Given the description of an element on the screen output the (x, y) to click on. 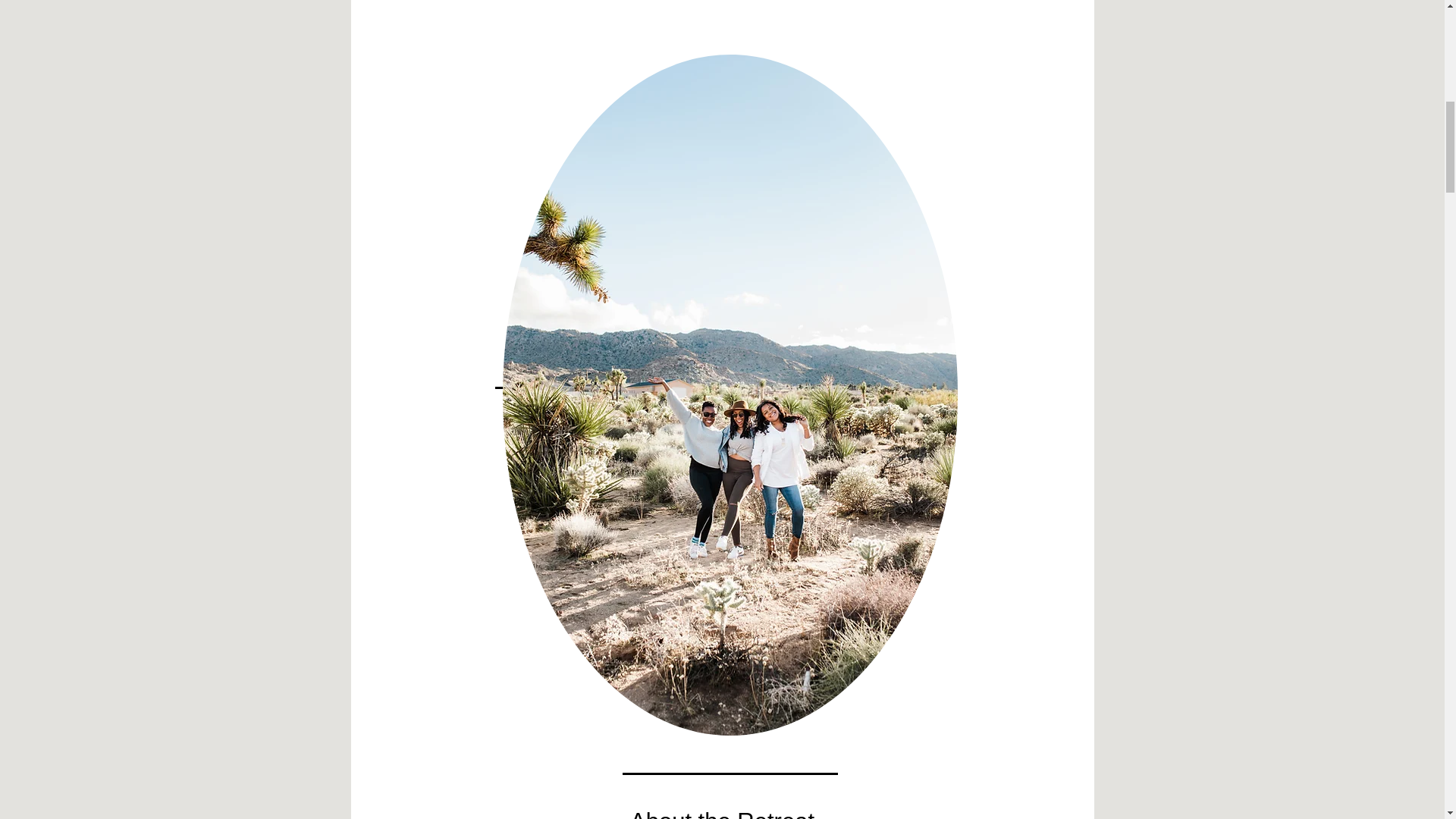
About the Retreat (721, 813)
